Given the description of an element on the screen output the (x, y) to click on. 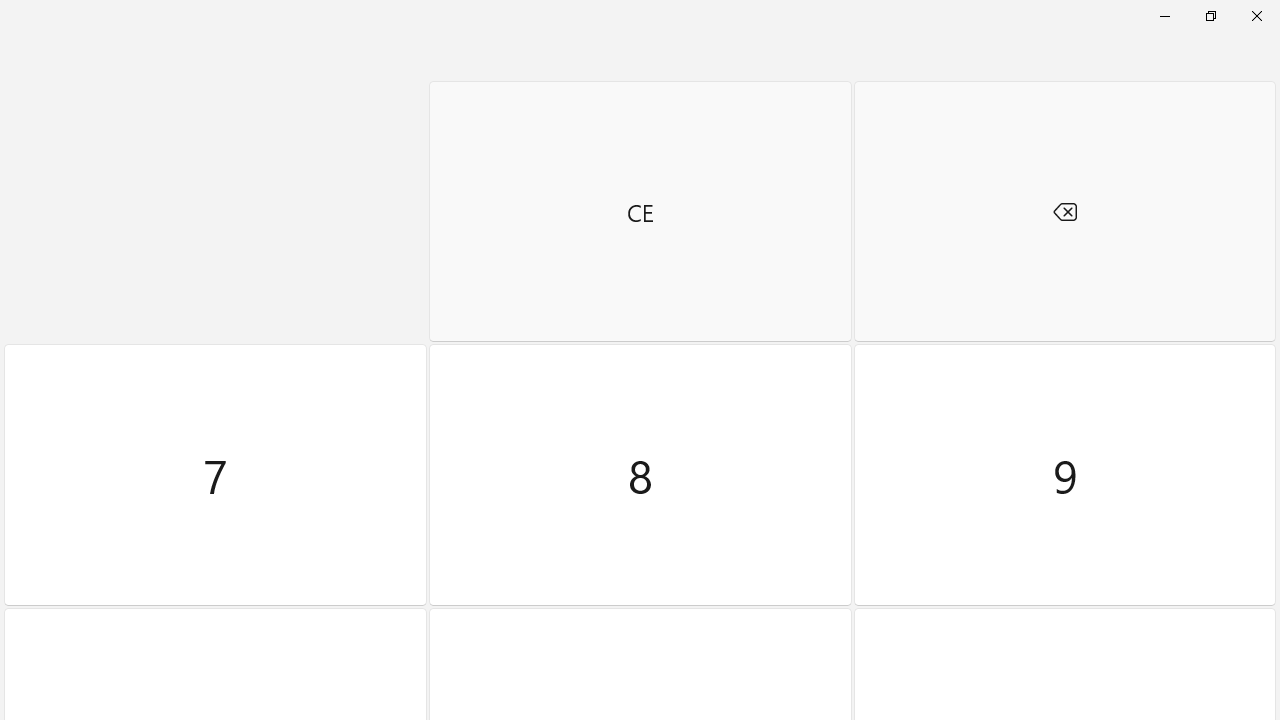
Restore Calculator (1210, 15)
Close Calculator (1256, 15)
Clear entry (640, 211)
Nine (1064, 475)
Minimize Calculator (1164, 15)
Eight (640, 475)
Backspace (1064, 211)
Seven (215, 475)
